Given the description of an element on the screen output the (x, y) to click on. 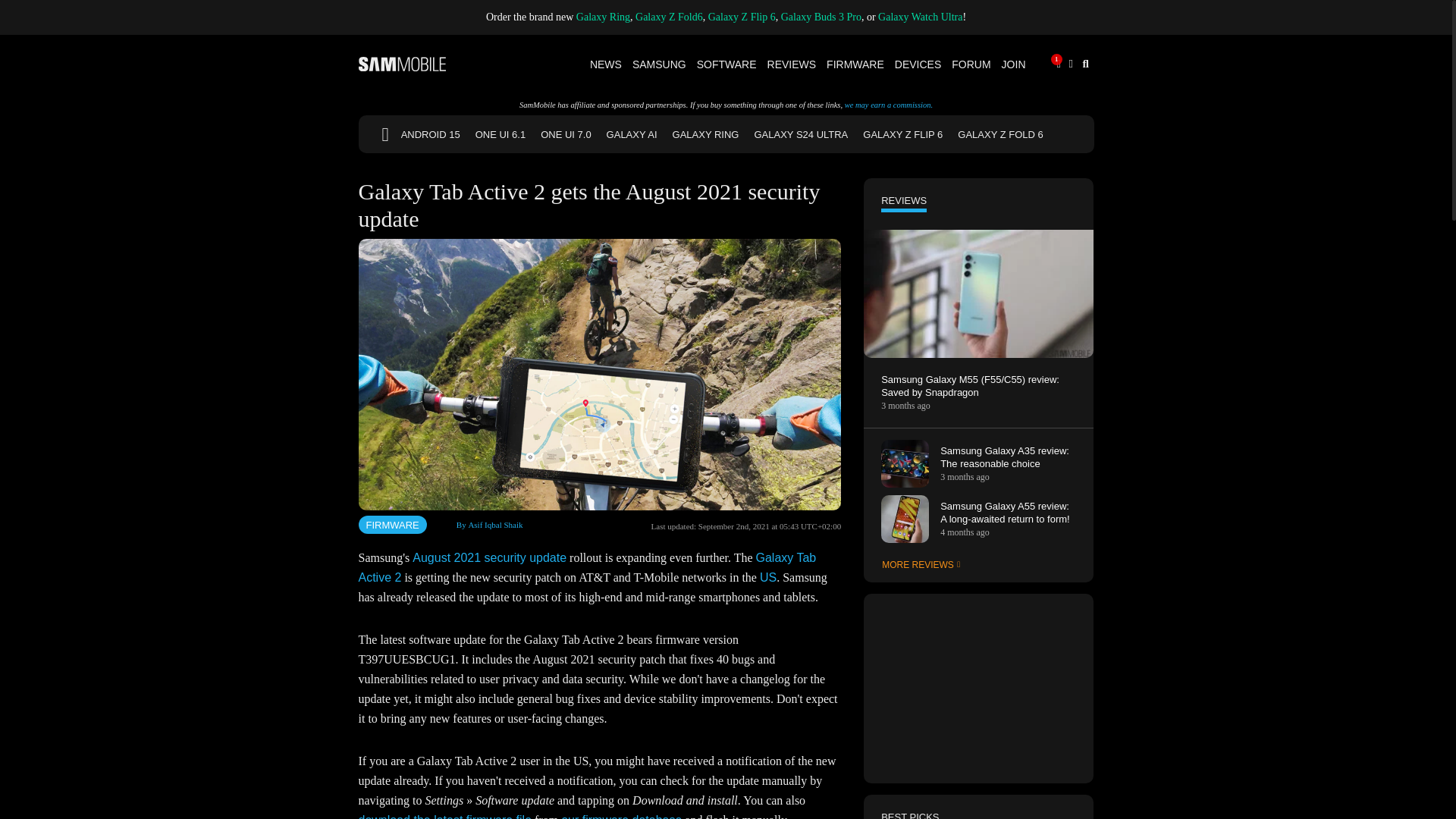
Galaxy Z Flip 6 (741, 16)
SAMSUNG (659, 64)
SamMobile logo (401, 63)
Samsung (659, 64)
Galaxy Z Fold6 (668, 16)
Galaxy Watch Ultra (919, 16)
Galaxy Buds 3 Pro (820, 16)
Galaxy Ring (603, 16)
